Given the description of an element on the screen output the (x, y) to click on. 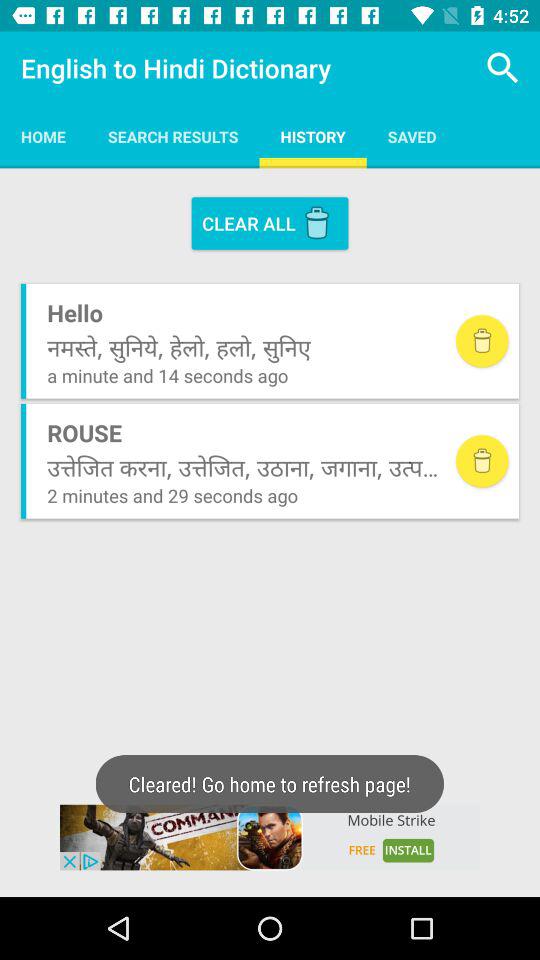
delete item (482, 341)
